Given the description of an element on the screen output the (x, y) to click on. 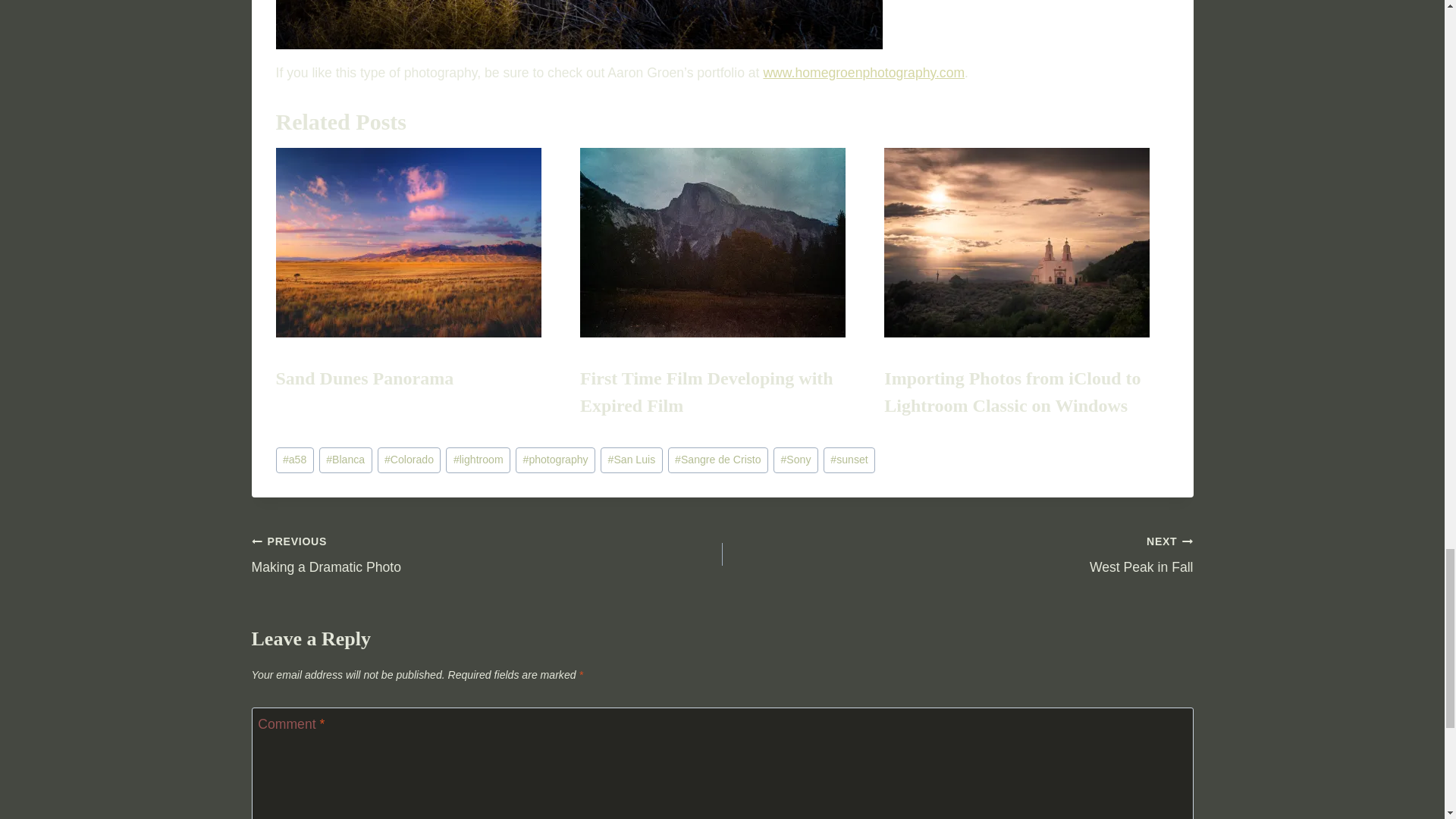
Importing Photos from iCloud to Lightroom Classic on Windows (1026, 242)
a58 (295, 460)
Importing Photos from iCloud to Lightroom Classic on Windows (1011, 391)
www.homegroenphotography.com (862, 72)
Sand Dunes Panorama (365, 378)
First Time Film Developing with Expired Film  (705, 391)
San Luis Desolation 5 (579, 24)
Sand Dunes Panorama (418, 242)
Importing Photos from iCloud to Lightroom Classic on Windows (1011, 391)
Sand Dunes Panorama (365, 378)
